Given the description of an element on the screen output the (x, y) to click on. 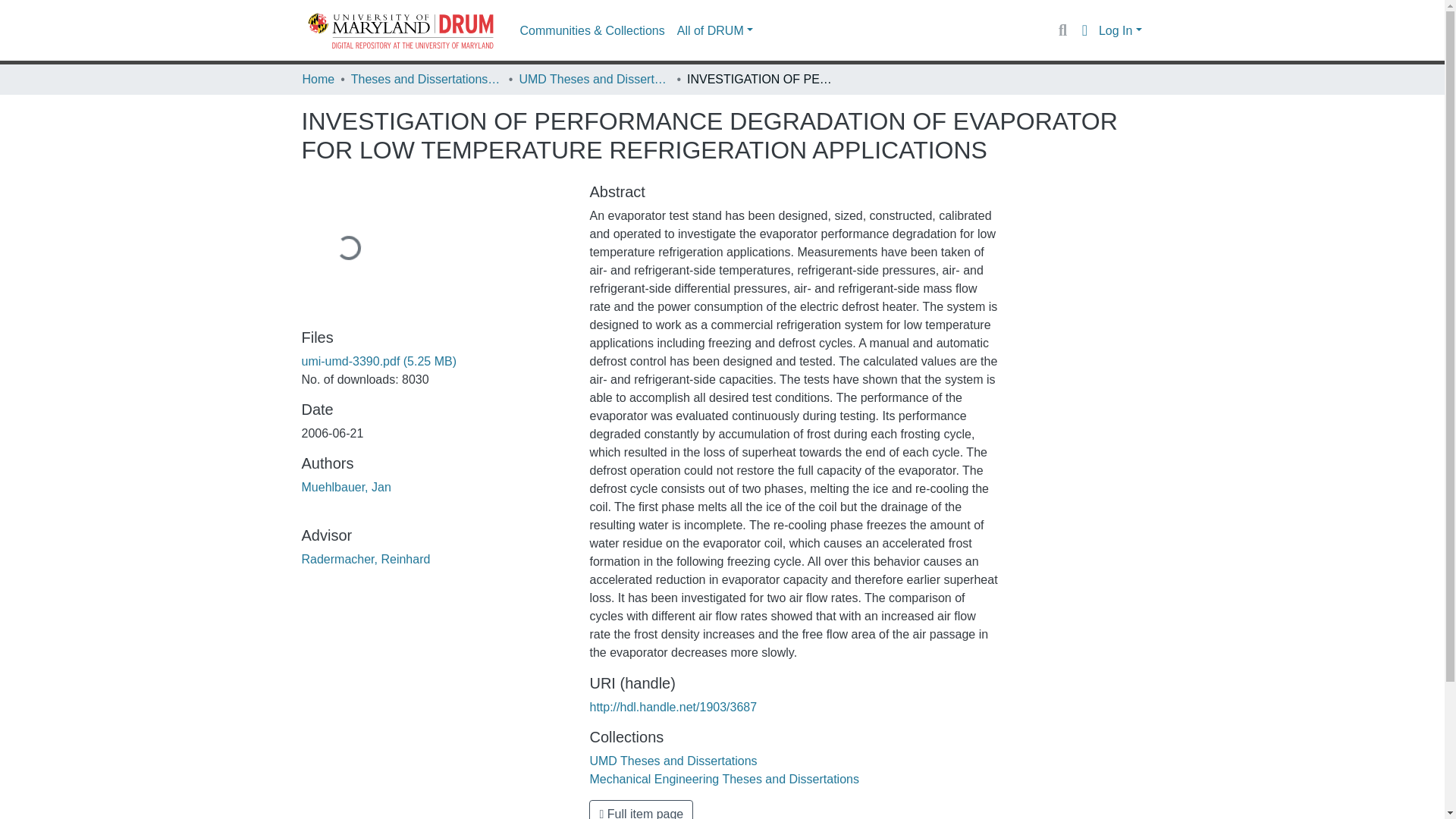
Full item page (641, 809)
All of DRUM (714, 30)
UMD Theses and Dissertations (593, 79)
Home (317, 79)
Log In (1119, 30)
Theses and Dissertations from UMD (426, 79)
Mechanical Engineering Theses and Dissertations (724, 779)
Radermacher, Reinhard (365, 558)
Muehlbauer, Jan (346, 486)
Language switch (1084, 30)
Search (1061, 30)
UMD Theses and Dissertations (673, 760)
